Given the description of an element on the screen output the (x, y) to click on. 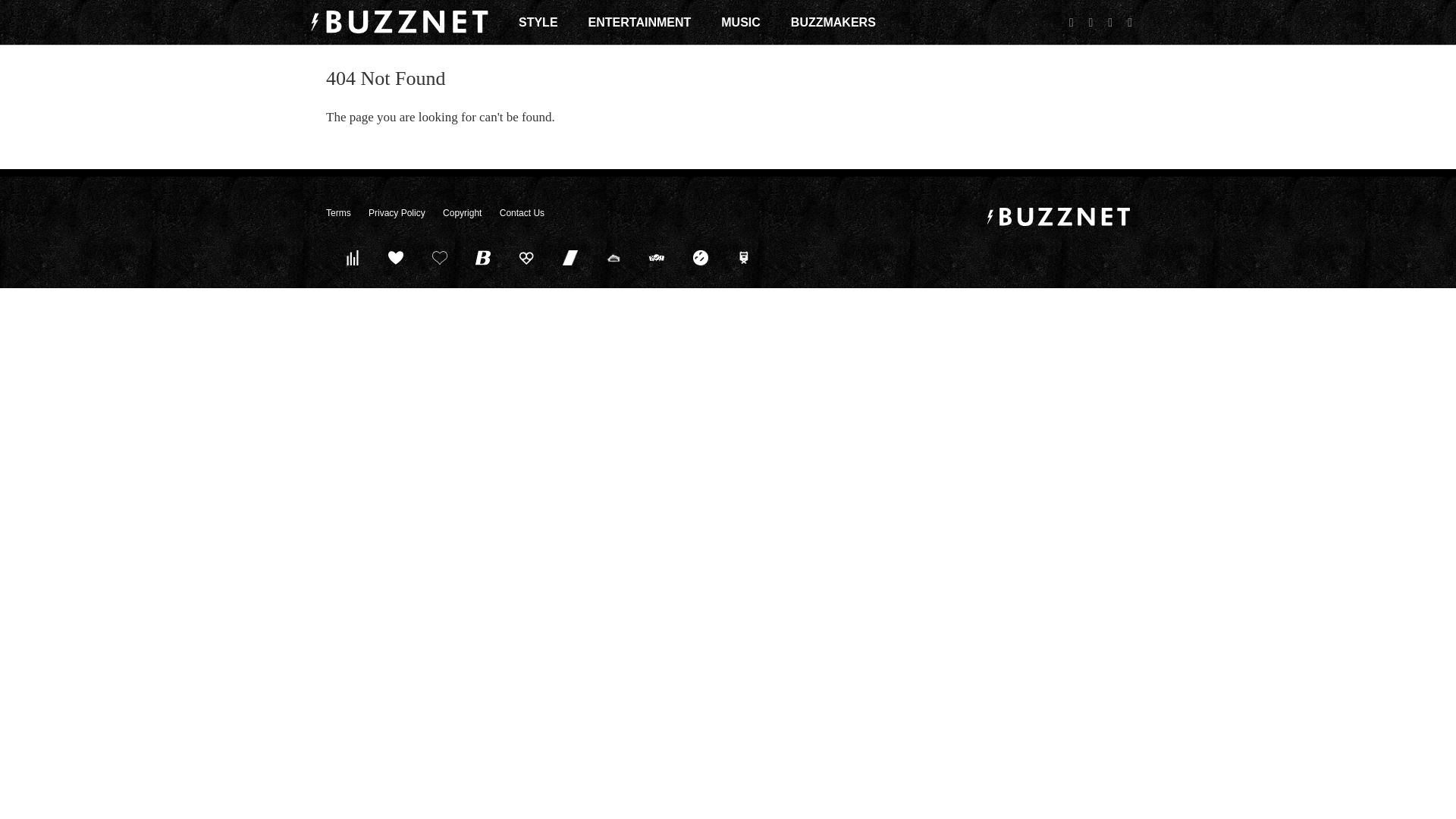
Hooch (526, 257)
Explored Hollywood (743, 257)
BleacherBreaker (483, 257)
Idolator (395, 257)
Quizscape (656, 257)
Post Fun (439, 257)
Taco Relish (612, 257)
ENTERTAINMENT (639, 22)
STYLE (538, 22)
Copyright (461, 213)
